Given the description of an element on the screen output the (x, y) to click on. 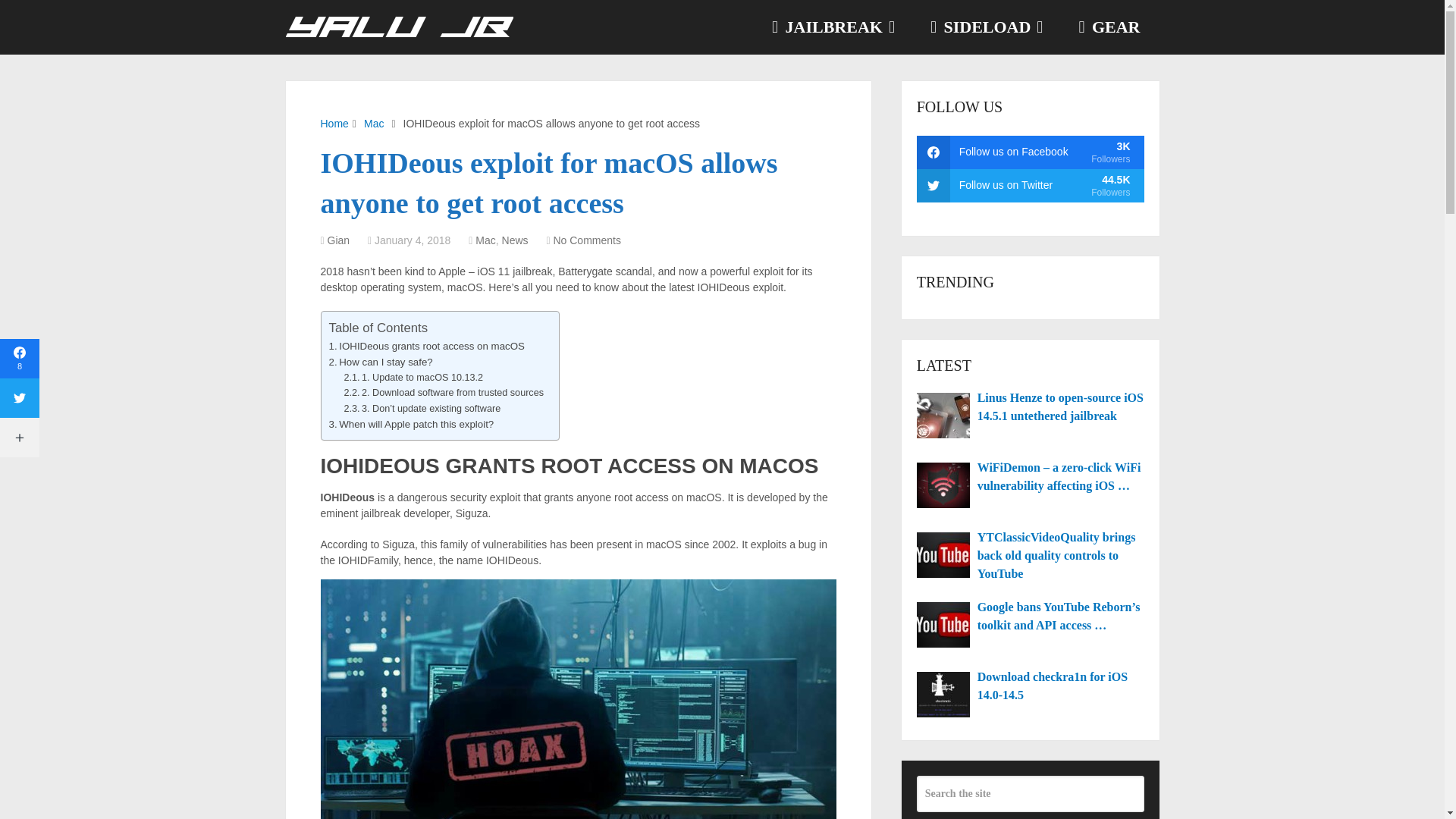
View all posts in News (515, 240)
How can I stay safe? (380, 361)
When will Apple patch this exploit? (412, 424)
1. Update to macOS 10.13.2 (413, 377)
News (515, 240)
Mac (374, 123)
No Comments (586, 240)
SIDELOAD (985, 27)
Gian (338, 240)
2. Download software from trusted sources (443, 392)
How can I stay safe? (380, 361)
Mac (485, 240)
View all posts in Mac (485, 240)
GEAR (1108, 27)
When will Apple patch this exploit? (412, 424)
